Given the description of an element on the screen output the (x, y) to click on. 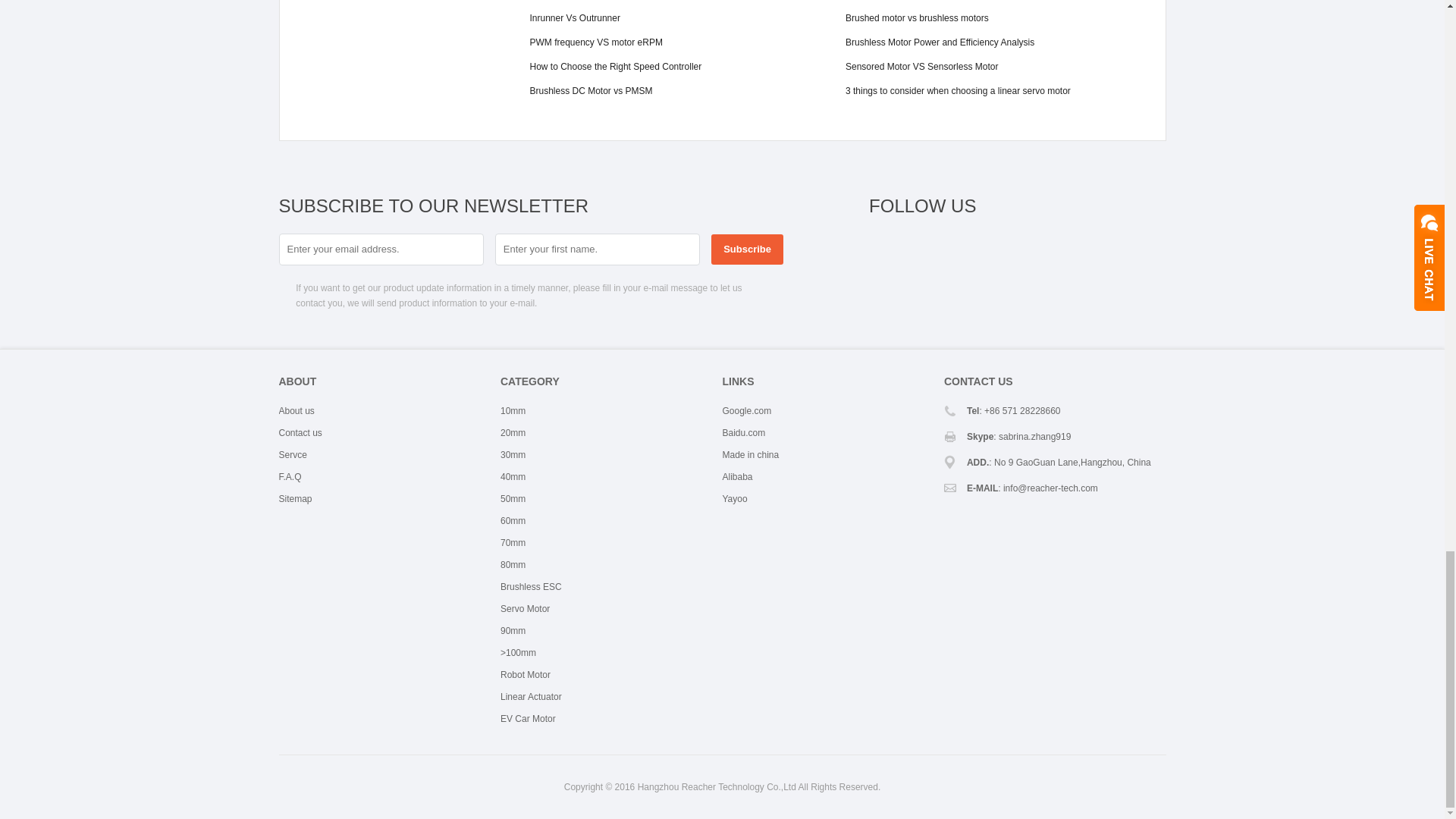
Skype (1146, 248)
Servce (293, 454)
Instagram (1108, 248)
Sitemap (296, 498)
Contact us (300, 432)
10mm (512, 410)
Subscribe (747, 249)
Facebook (884, 248)
YouTube (1071, 248)
LinkedIn (996, 248)
